Given the description of an element on the screen output the (x, y) to click on. 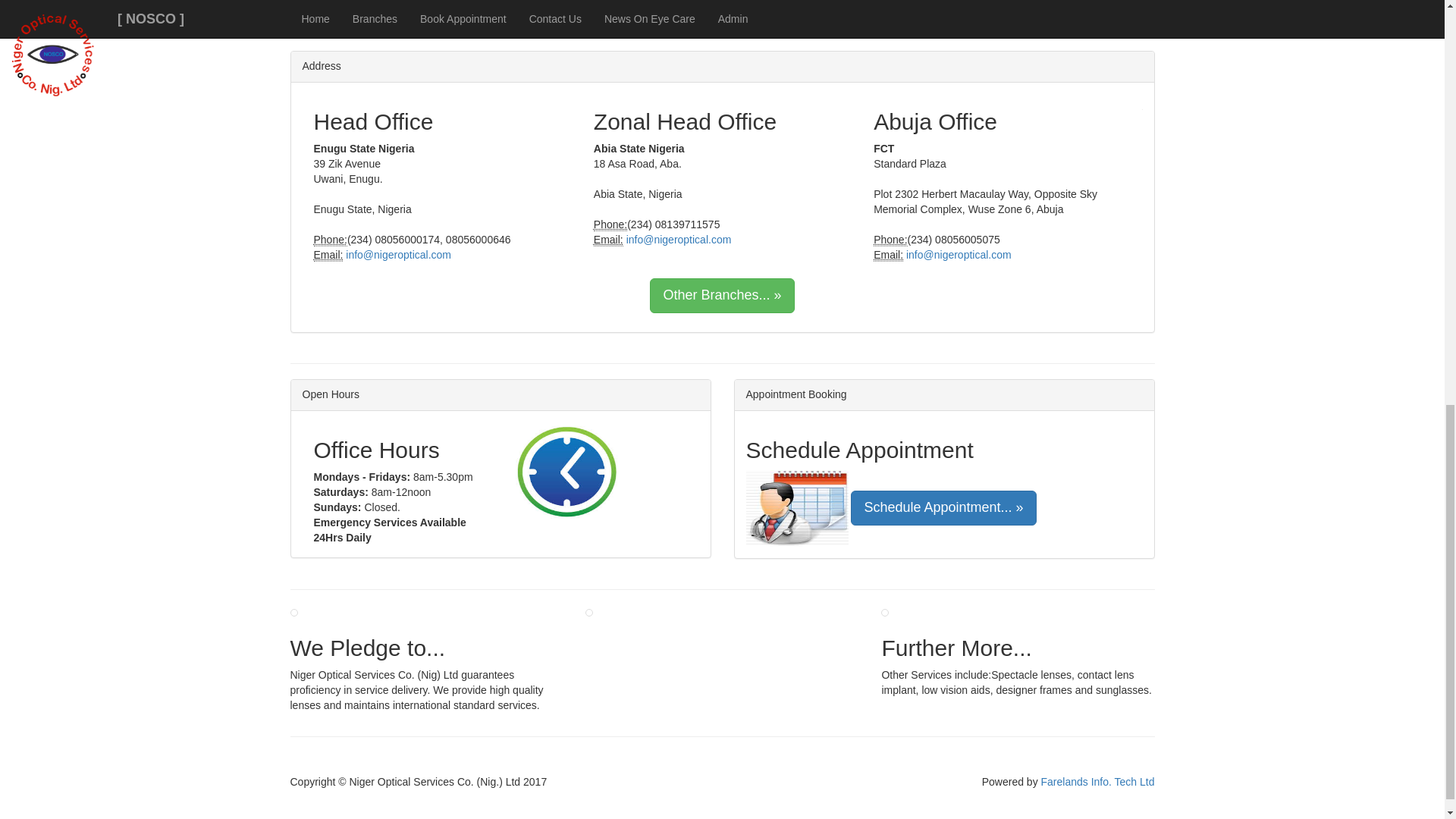
Phone (610, 224)
Email (887, 254)
Phone (330, 239)
Email (328, 254)
Phone (890, 239)
Farelands Info. Tech Ltd (1097, 781)
Email (608, 239)
